Given the description of an element on the screen output the (x, y) to click on. 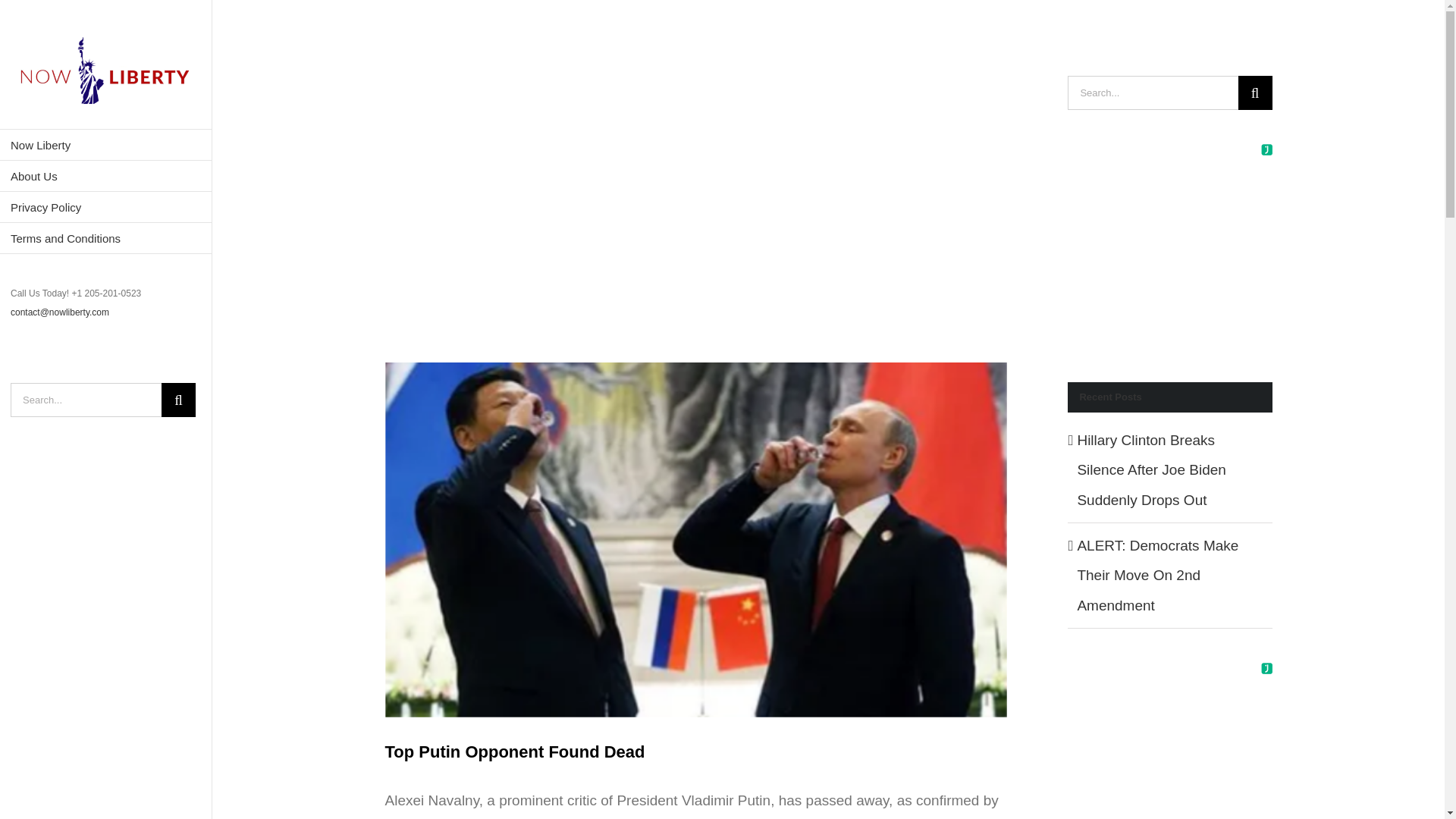
About Us (106, 175)
Privacy Policy (106, 206)
Now Liberty (106, 144)
Terms and Conditions (106, 237)
